Given the description of an element on the screen output the (x, y) to click on. 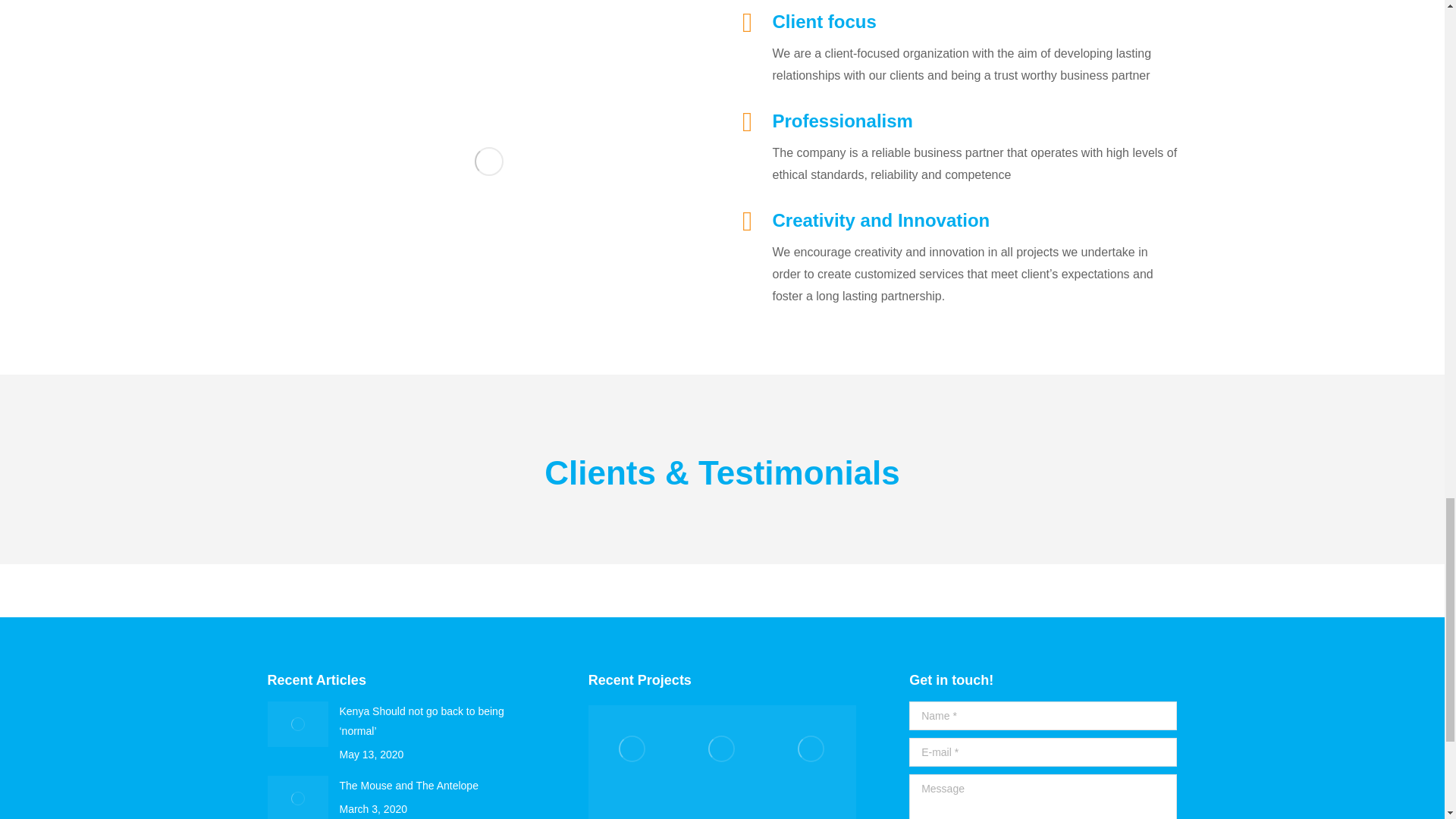
ASK Regional stakeholders meeting at the Kisumu showground (633, 806)
FiRe Award 2020 Ceremony (811, 749)
CSR at the Launch of KCA University Accounting Students Club (722, 806)
